Given the description of an element on the screen output the (x, y) to click on. 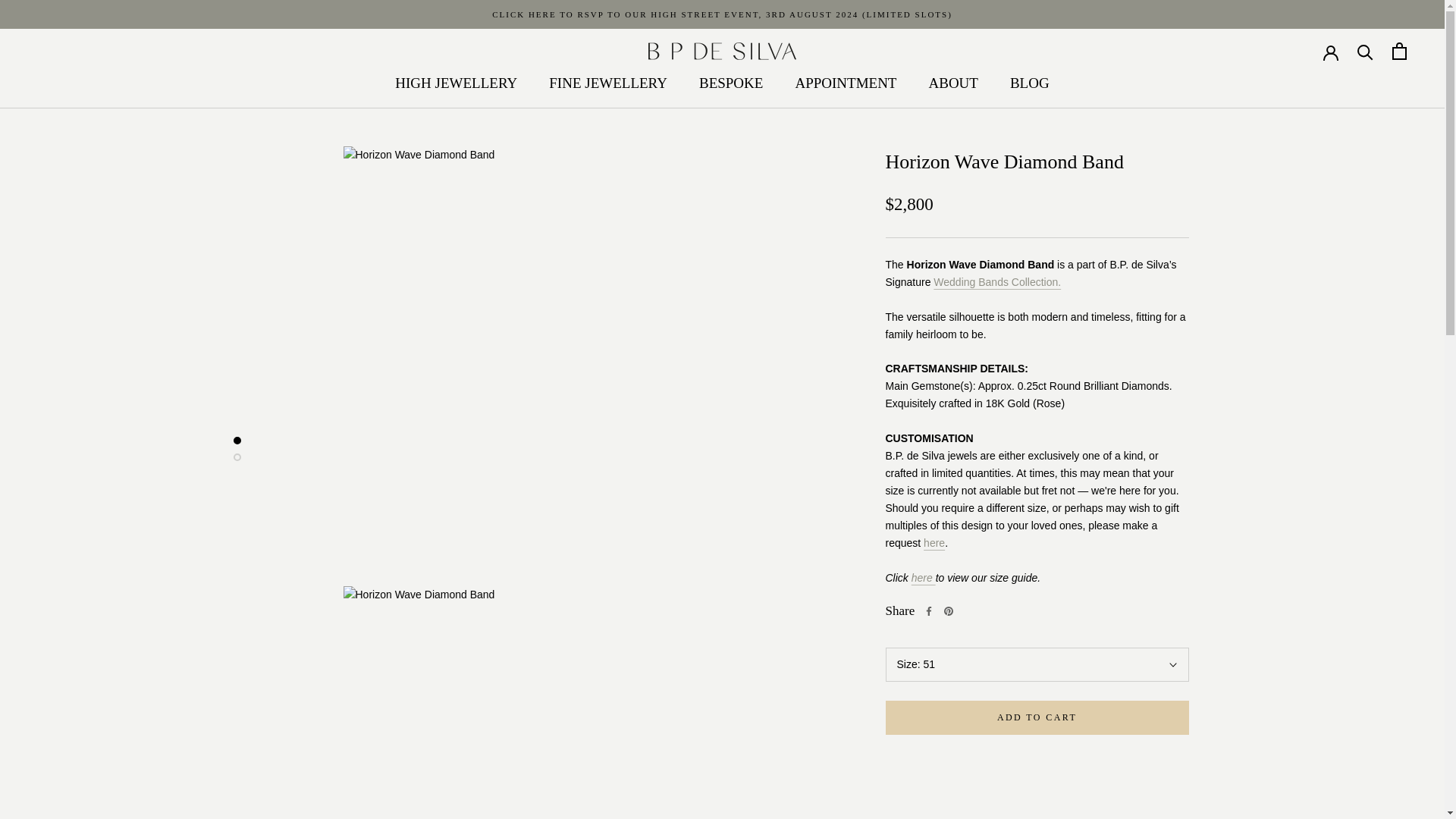
B.P. de Silva Jewellery Size Guide (923, 577)
Custom keepsakes and custom jewellery B.P. de Silva (933, 542)
